Given the description of an element on the screen output the (x, y) to click on. 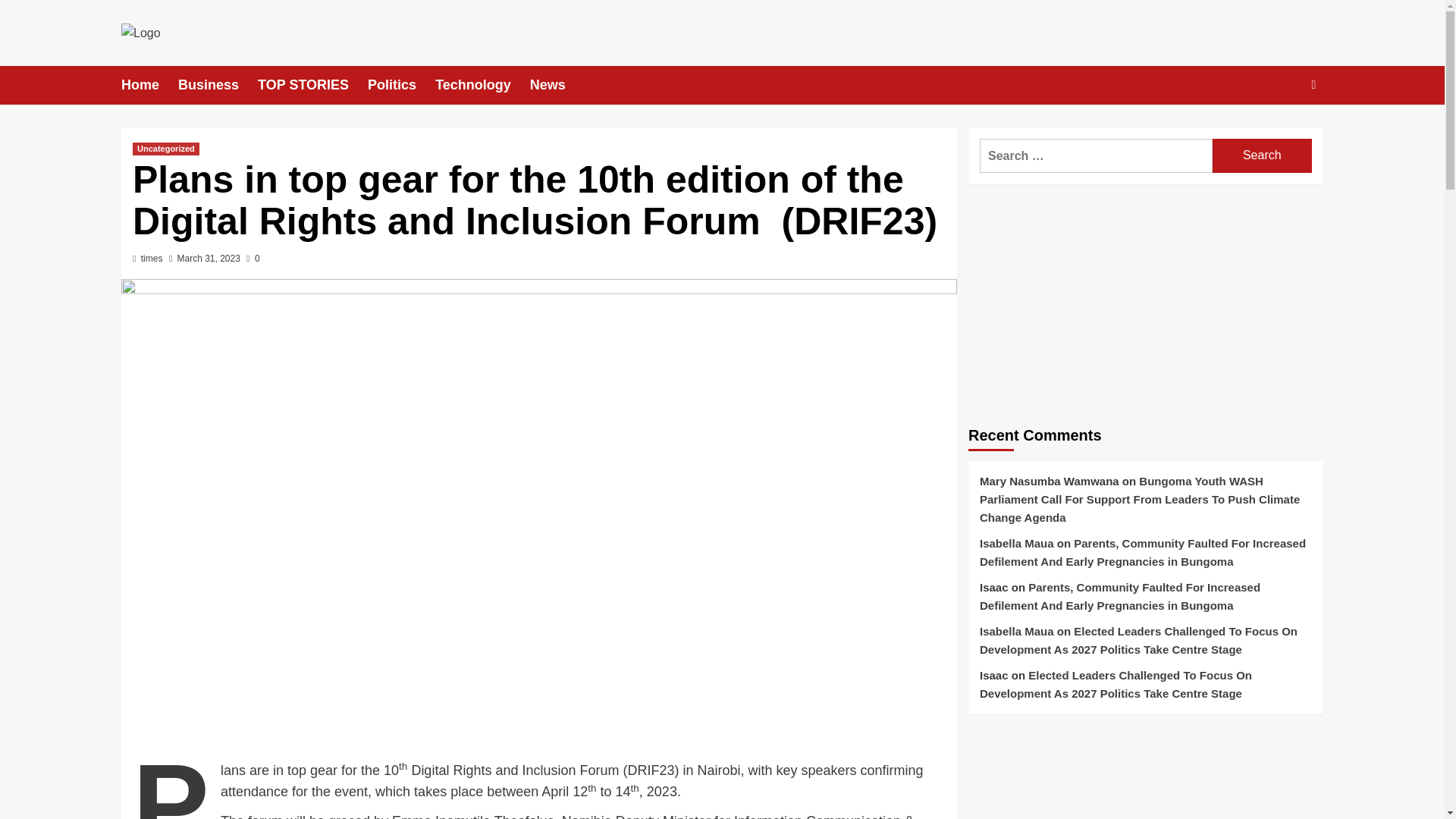
Search (1278, 131)
Search (1261, 155)
Search (1261, 155)
Home (148, 85)
Business (217, 85)
0 (252, 258)
News (557, 85)
TOP STORIES (312, 85)
Politics (401, 85)
times (152, 258)
March 31, 2023 (208, 258)
Technology (482, 85)
Uncategorized (165, 148)
